Given the description of an element on the screen output the (x, y) to click on. 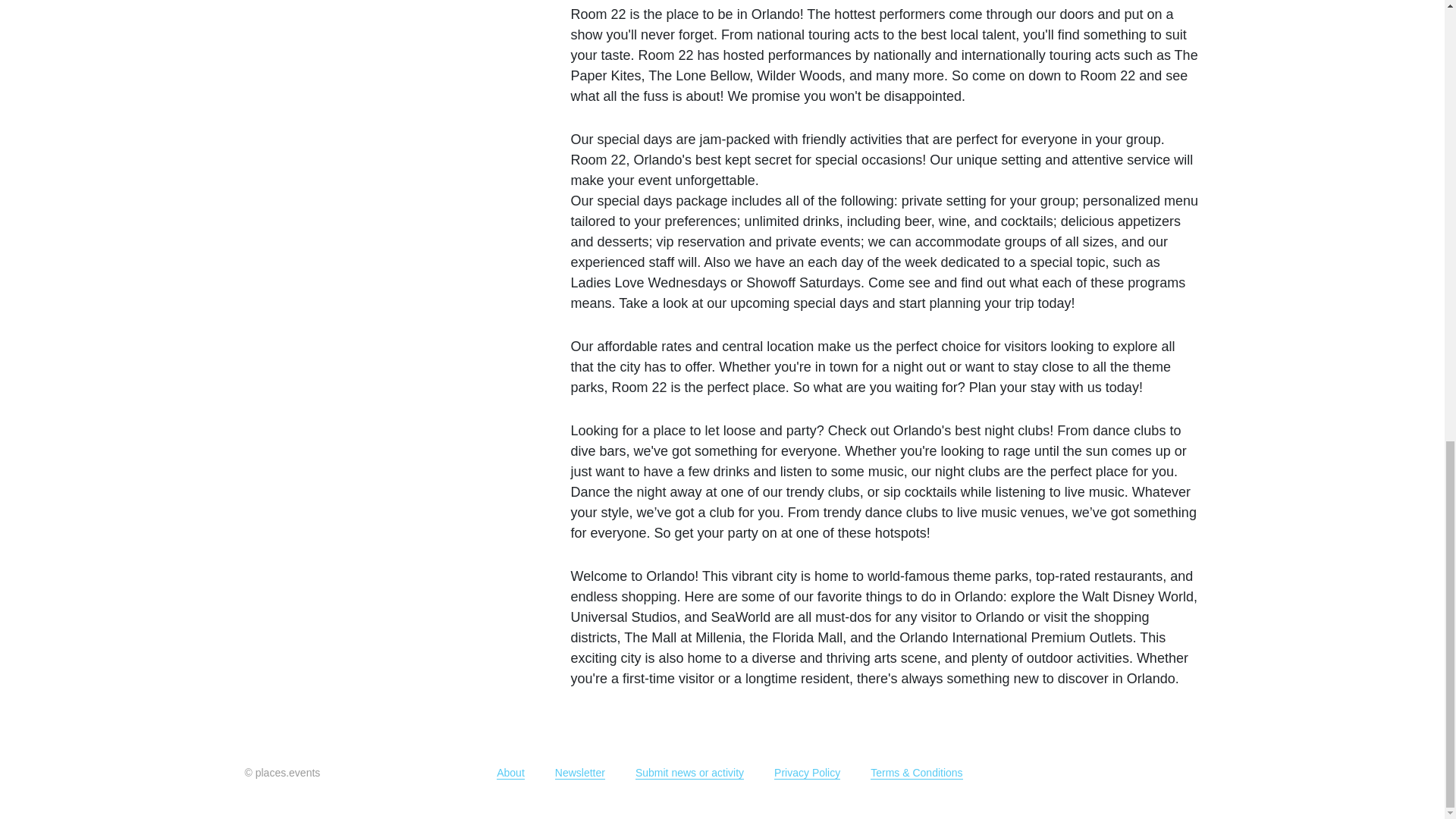
Privacy Policy (807, 772)
Submit news or activity (689, 772)
Newsletter (579, 772)
About (510, 772)
